Given the description of an element on the screen output the (x, y) to click on. 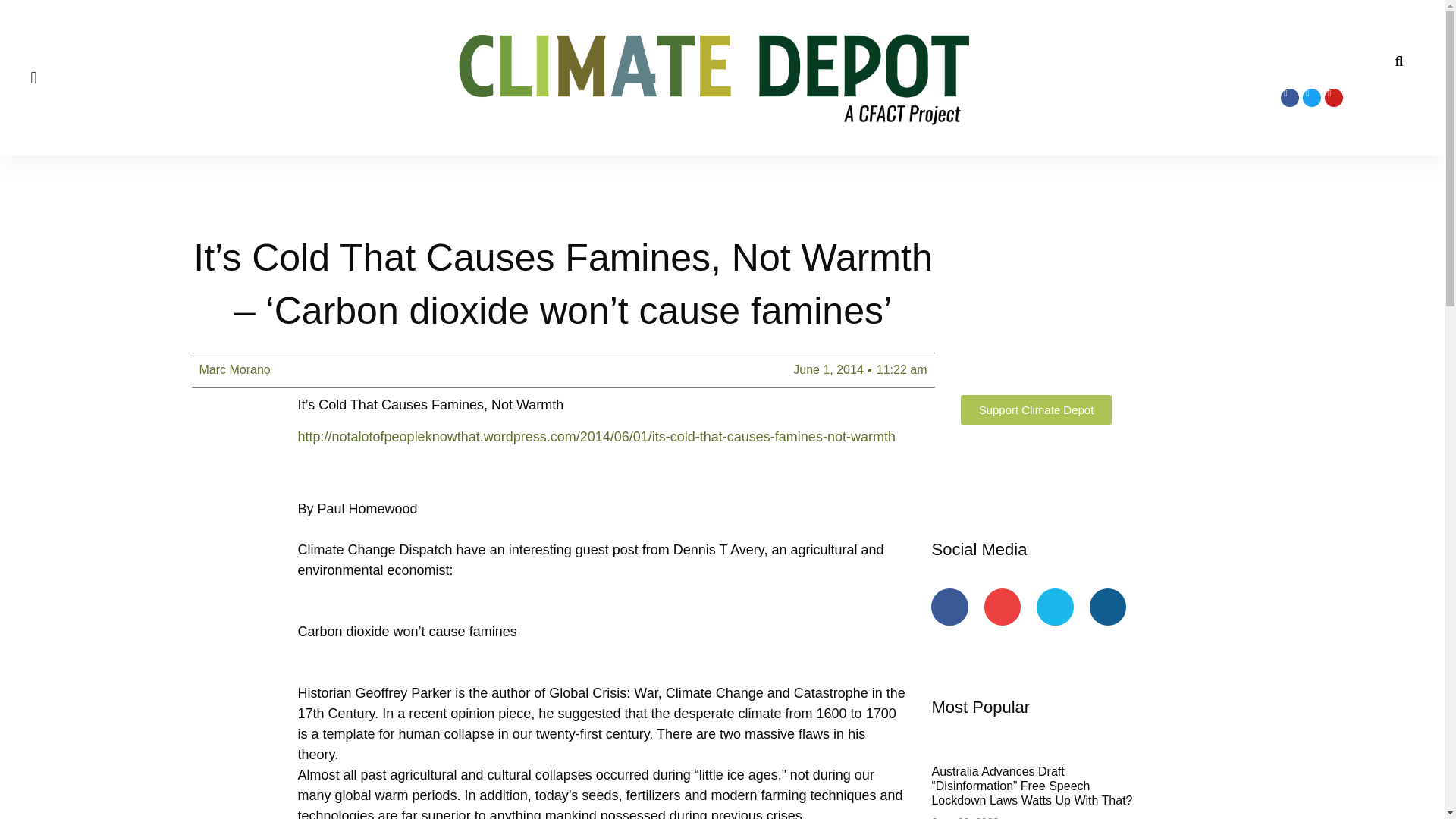
Marc Morano (233, 370)
Support Climate Depot (1036, 409)
June 1, 2014 (828, 370)
